Given the description of an element on the screen output the (x, y) to click on. 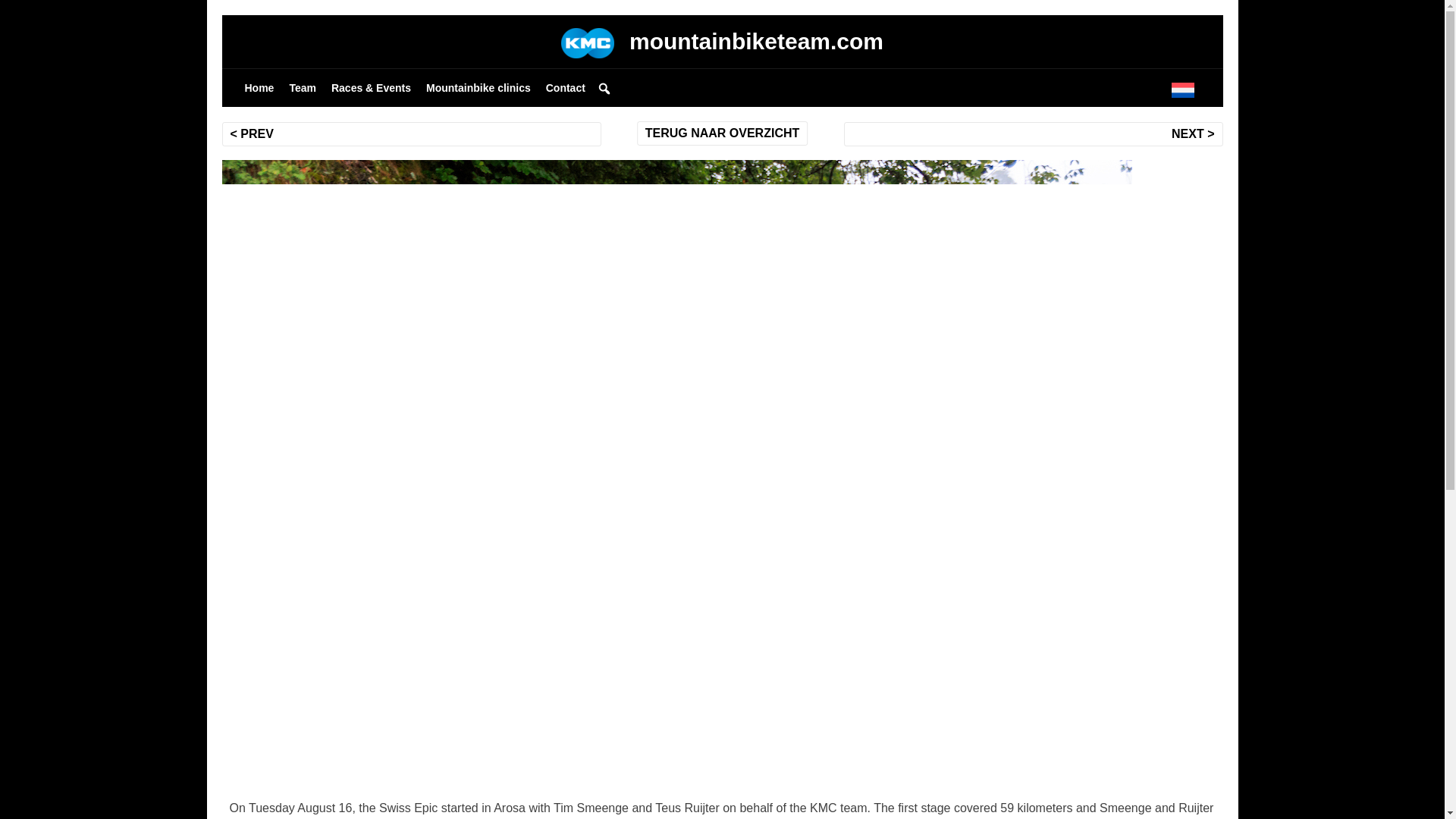
Team (302, 87)
Mountainbike clinics (478, 87)
mountainbiketeam.com (807, 538)
Contact (565, 87)
20 August 2022 (674, 538)
Home (258, 87)
TERUG NAAR OVERZICHT (722, 133)
mountainbiketeam.com (722, 41)
Search (13, 12)
